Given the description of an element on the screen output the (x, y) to click on. 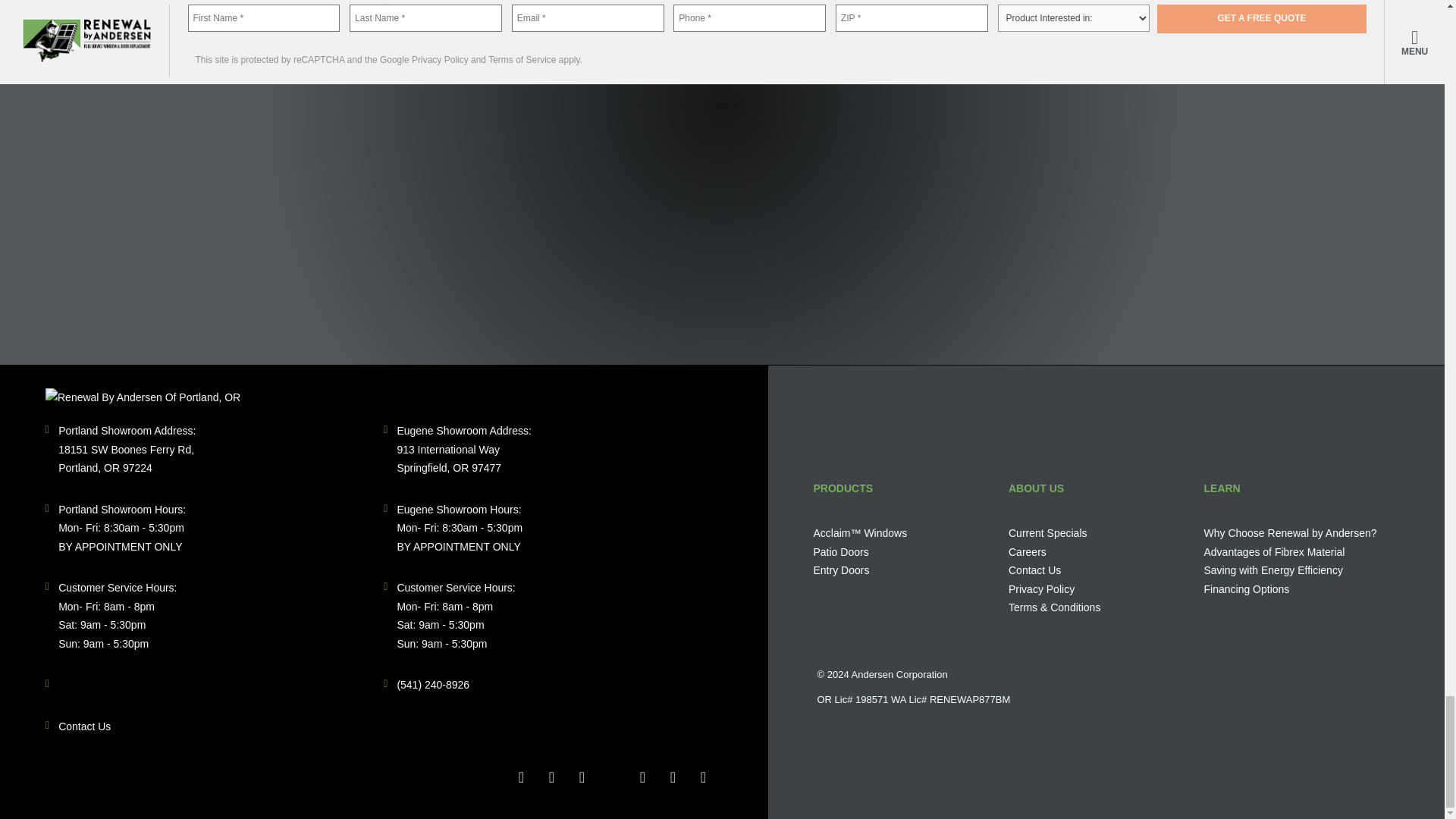
Instagram (672, 777)
Twitter (551, 777)
LinkedIn (703, 777)
Facebook (521, 777)
Renewal By Andersen Of Portland (142, 397)
Youtube (641, 777)
Google My Business (611, 777)
Houzz (581, 777)
